Given the description of an element on the screen output the (x, y) to click on. 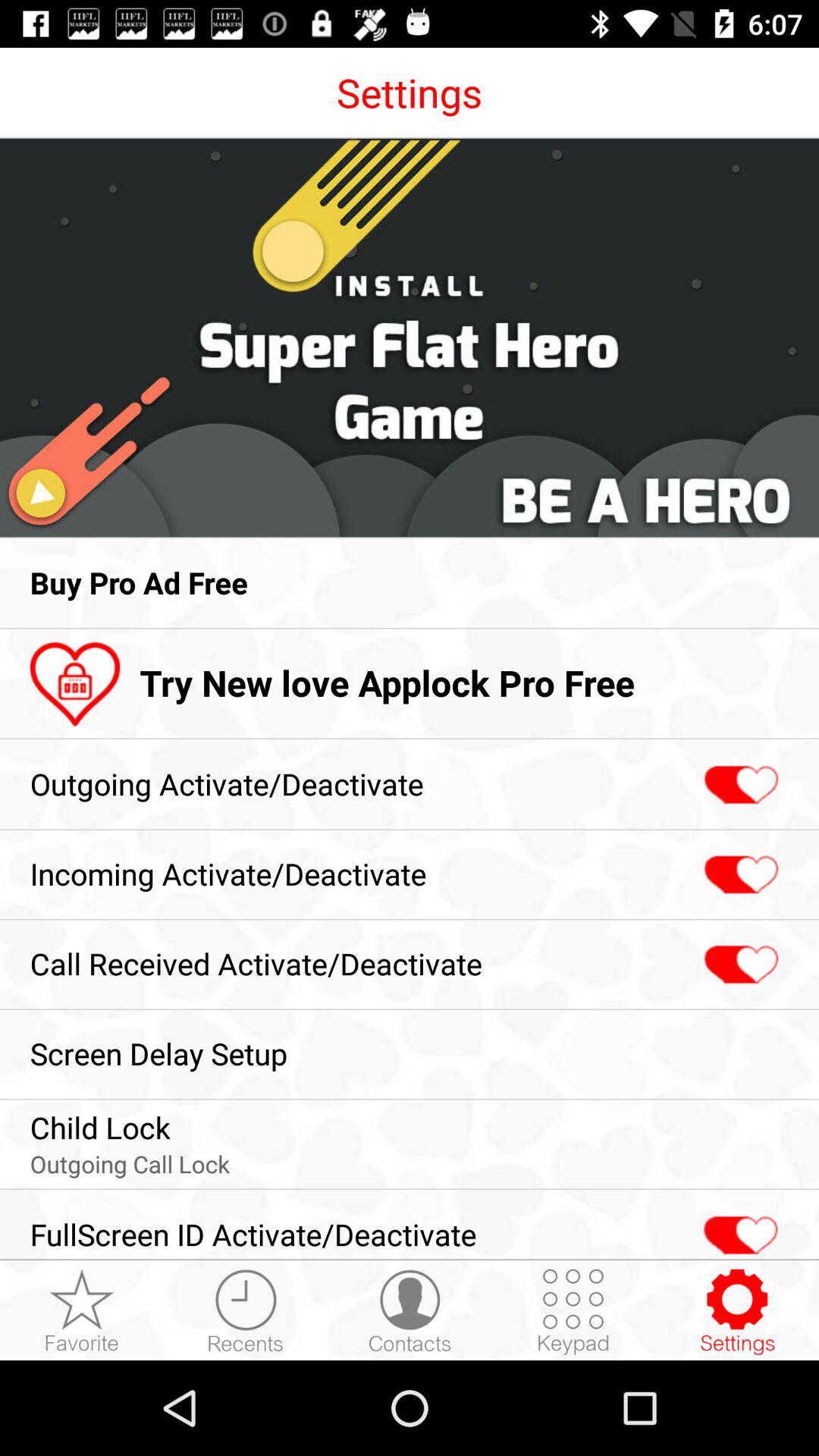
press the icon next to the call received activate item (739, 964)
